Given the description of an element on the screen output the (x, y) to click on. 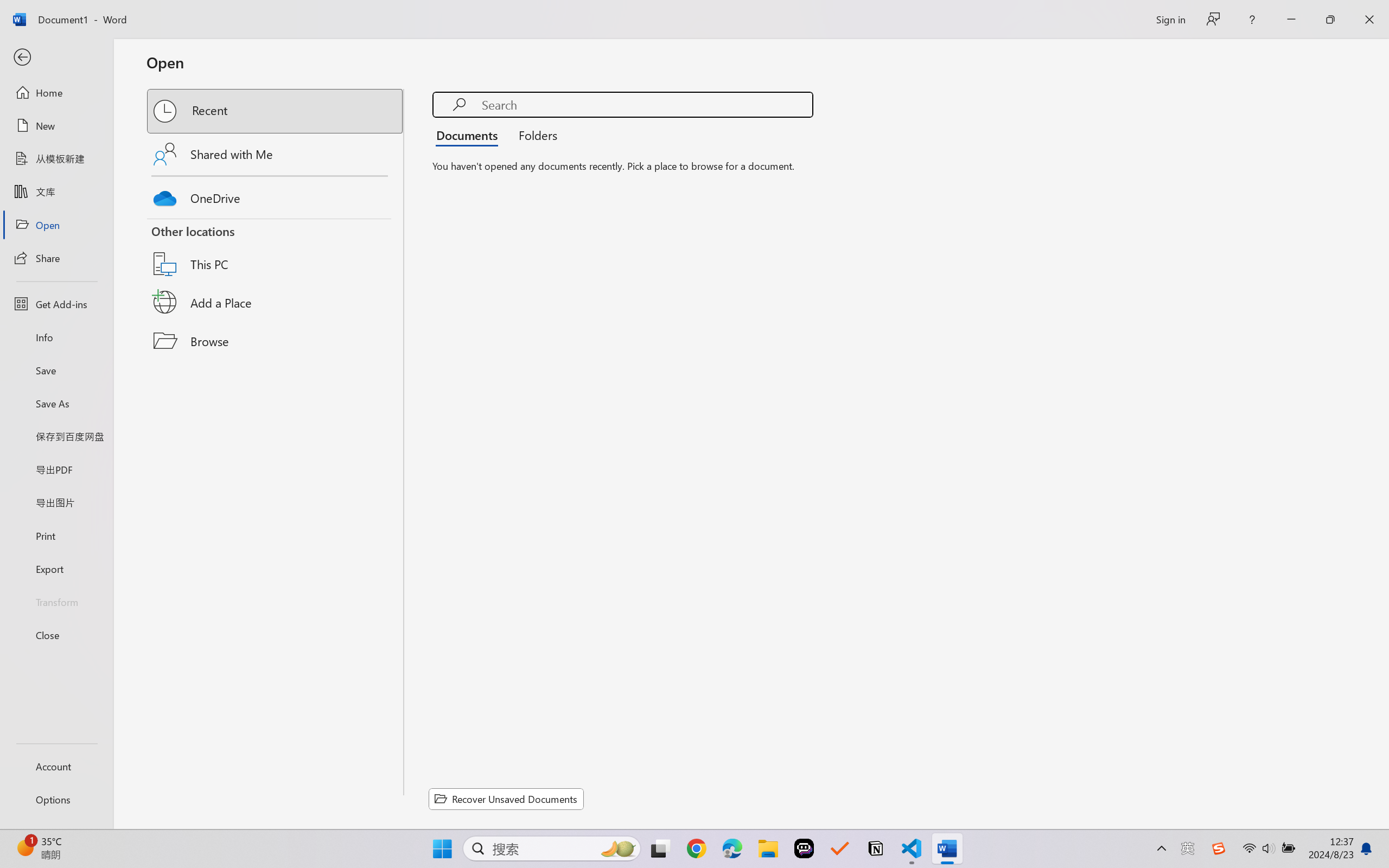
Save As (56, 403)
Folders (534, 134)
Options (56, 798)
Back (56, 57)
Print (56, 535)
Add a Place (275, 302)
Browse (275, 340)
